Given the description of an element on the screen output the (x, y) to click on. 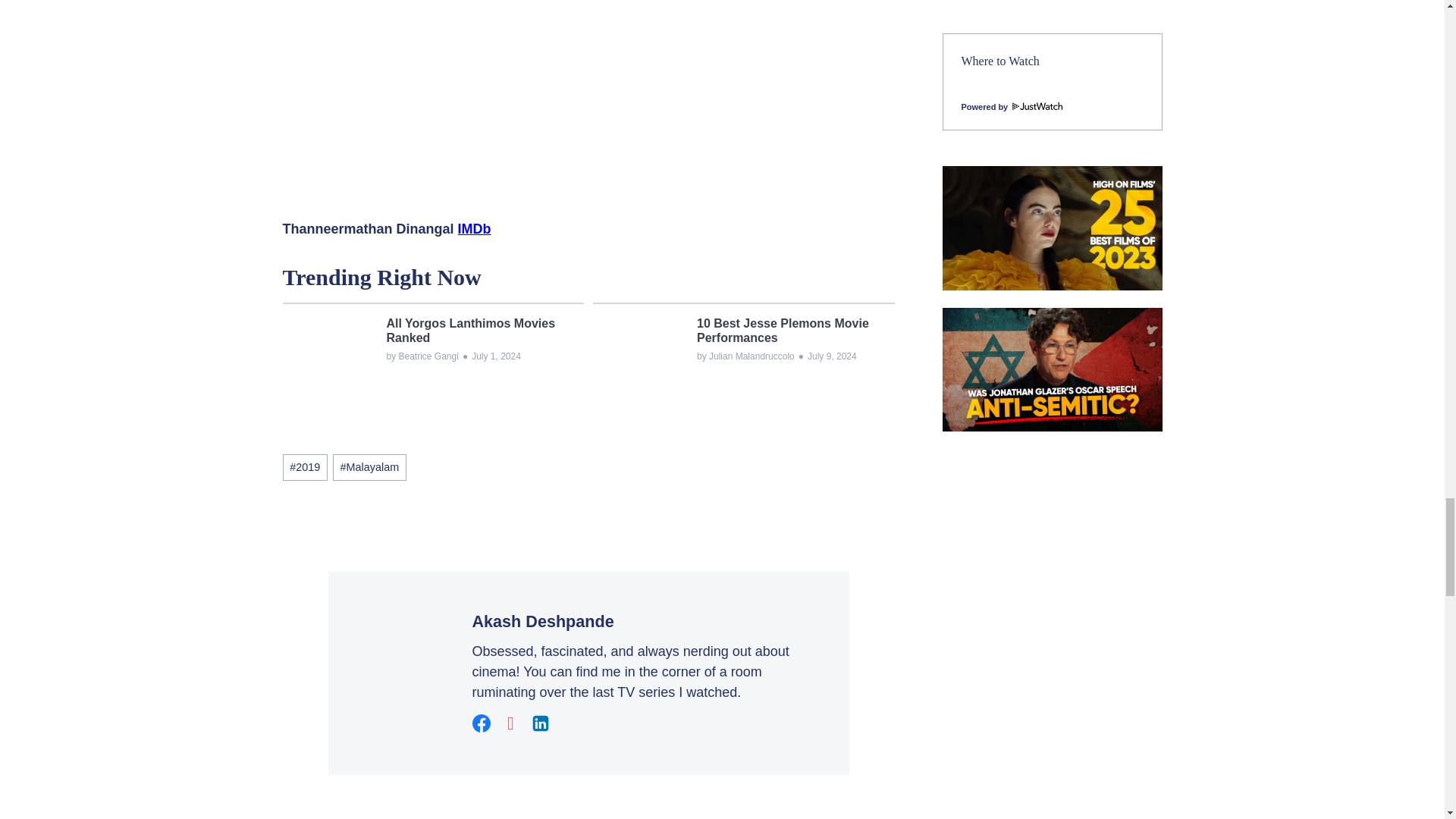
Posts by Akash Deshpande (541, 620)
2019 (304, 467)
IMDb (475, 228)
Malayalam (369, 467)
